Given the description of an element on the screen output the (x, y) to click on. 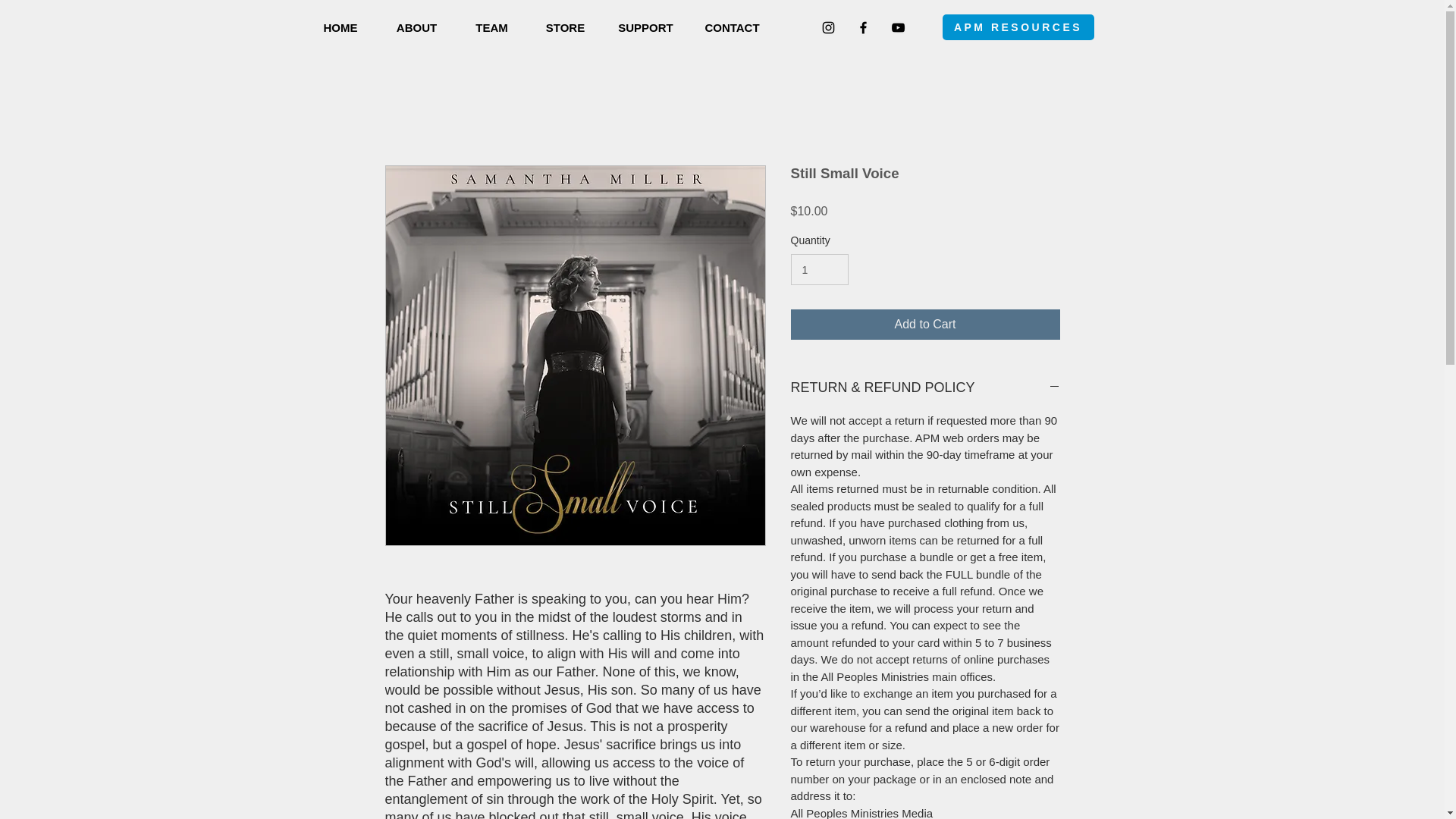
APM RESOURCES (1017, 27)
CONTACT (731, 27)
TEAM (490, 27)
Add to Cart (924, 324)
ABOUT (415, 27)
STORE (564, 27)
HOME (340, 27)
1 (818, 269)
SUPPORT (645, 27)
